Given the description of an element on the screen output the (x, y) to click on. 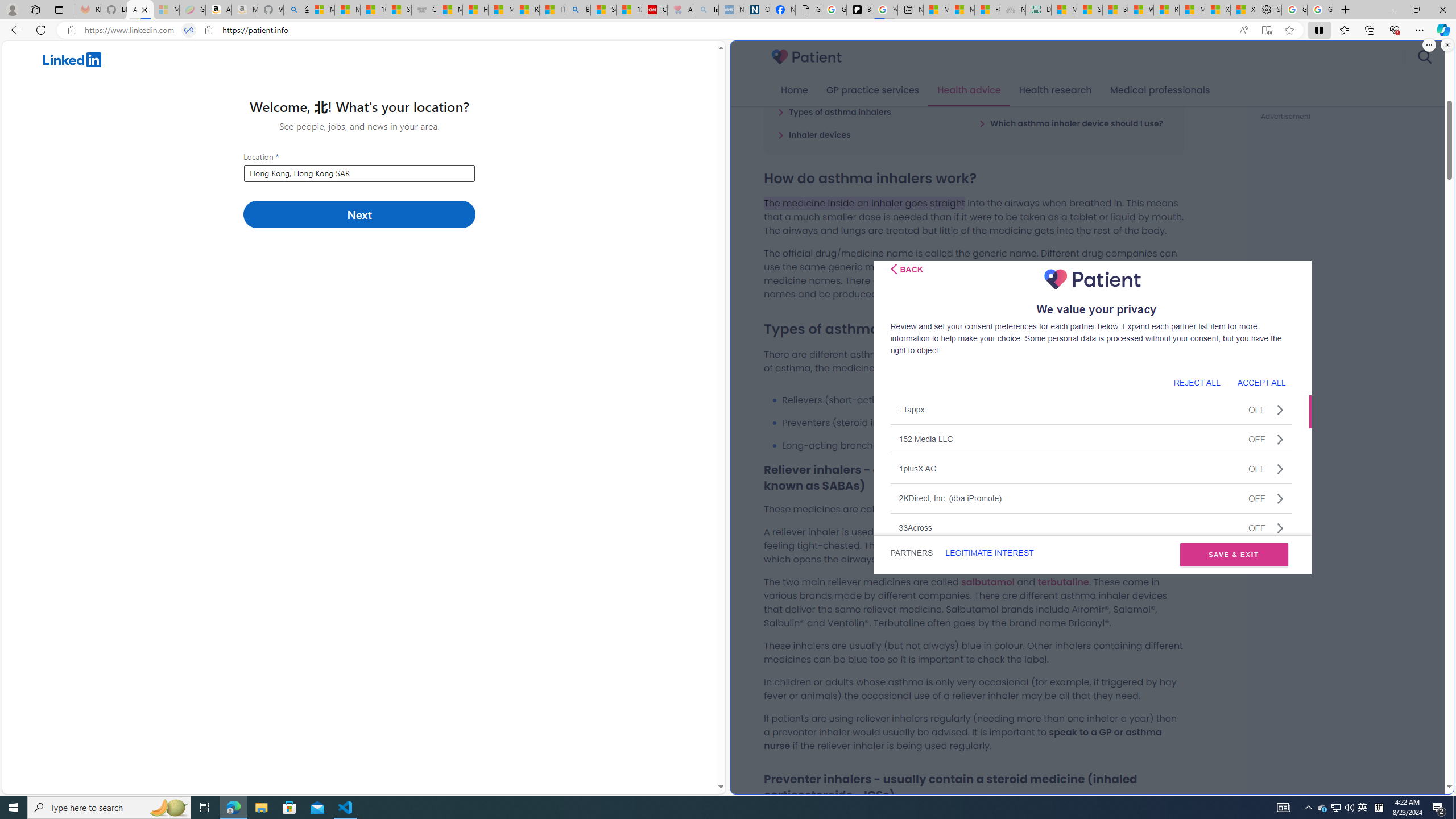
Which asthma inhaler device should I use? (1070, 123)
Google Analytics Opt-out Browser Add-on Download Page (807, 9)
Are there any side-effects from asthma inhalers? (1074, 94)
Bing (577, 9)
GP practice services (872, 90)
Health research (1054, 90)
Be Smart | creating Science videos | Patreon (858, 9)
Tab actions menu (58, 9)
Home (793, 90)
Split screen (1318, 29)
